Given the description of an element on the screen output the (x, y) to click on. 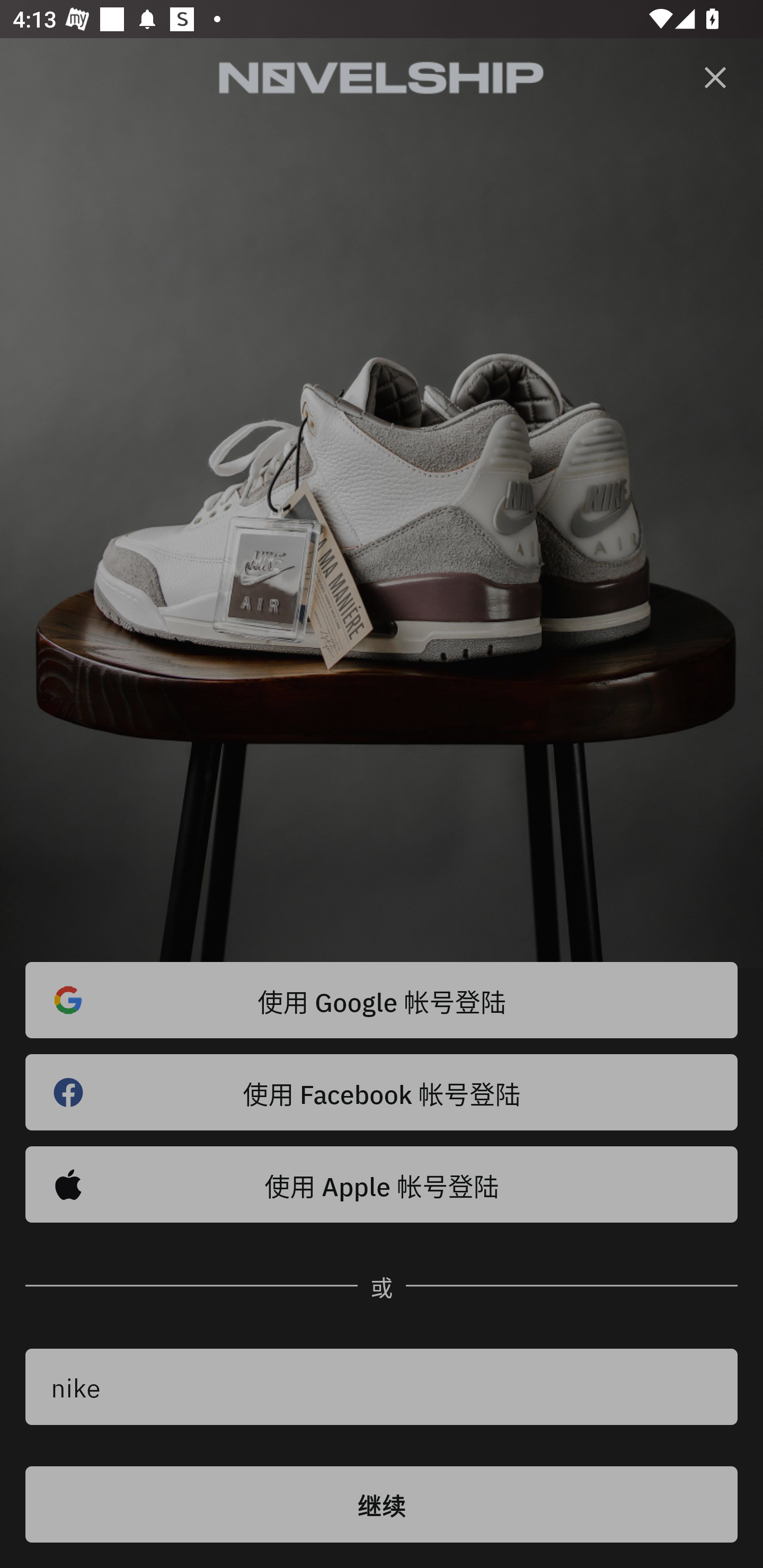
使用 Google 帐号登陆 (381, 1000)
使用 Facebook 帐号登陆 󰈌 (381, 1091)
 使用 Apple 帐号登陆 (381, 1184)
nike (381, 1386)
继续 (381, 1504)
